Given the description of an element on the screen output the (x, y) to click on. 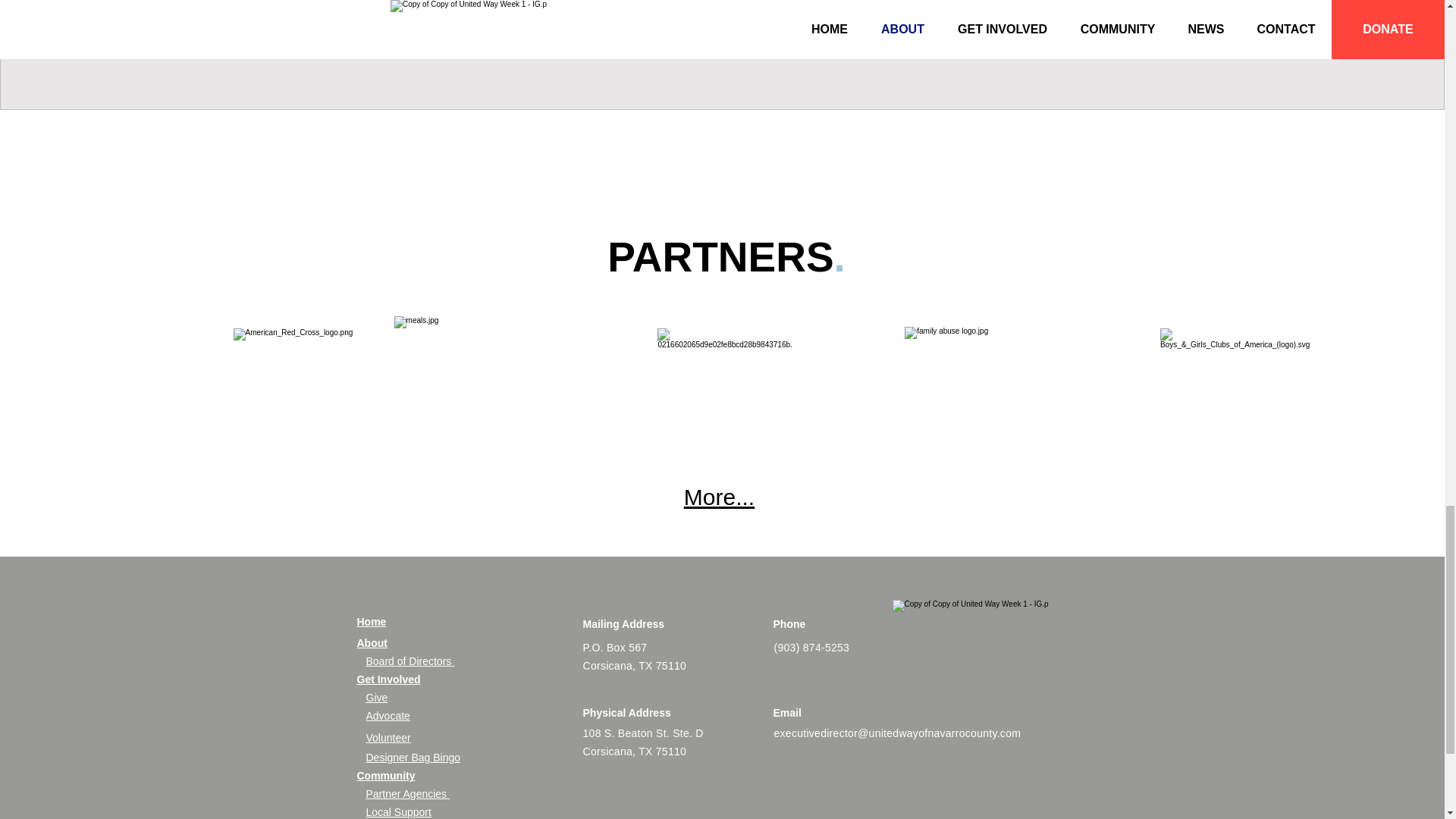
Instagram (876, 816)
Get Involved (388, 679)
Board of Directors  (409, 661)
Give (376, 697)
Designer Bag Bingo (412, 757)
Advocate (387, 715)
Local Support (397, 811)
Volunteer (387, 737)
More... (719, 496)
About (371, 643)
